Given the description of an element on the screen output the (x, y) to click on. 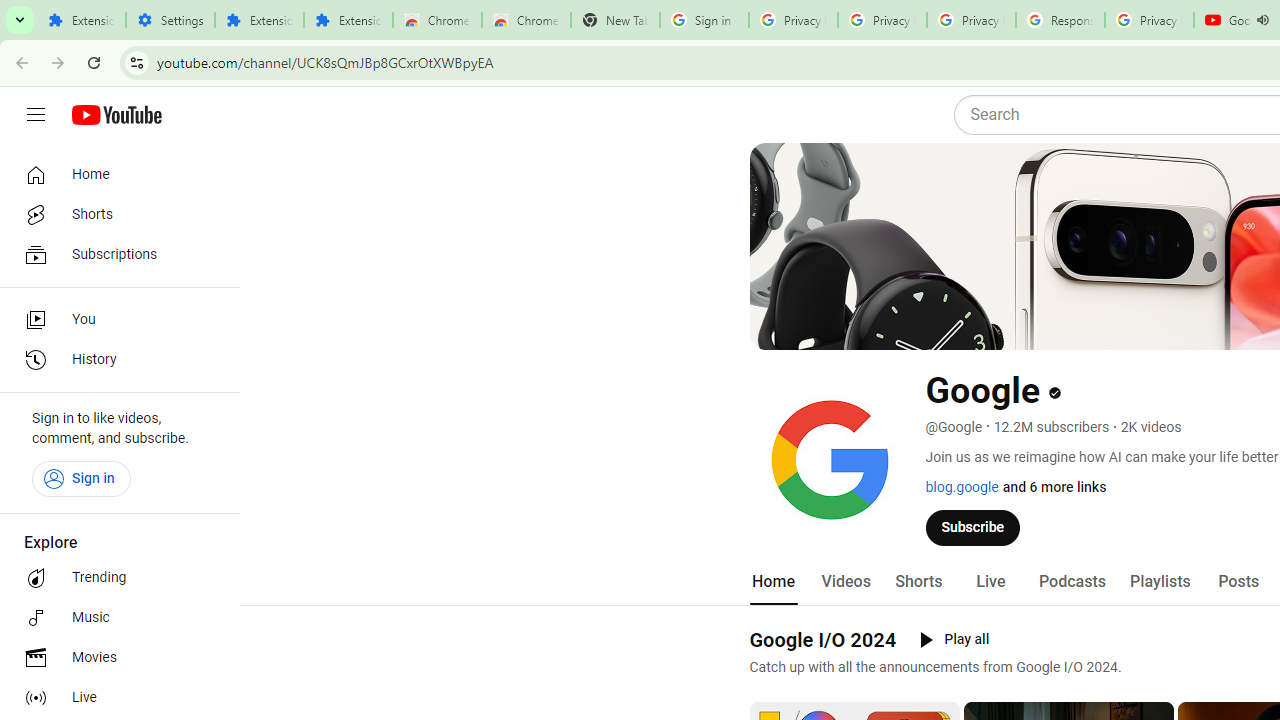
Music (113, 617)
Play all (954, 640)
YouTube Home (116, 115)
and 6 more links (1054, 487)
Extensions (347, 20)
Shorts (113, 214)
Extensions (259, 20)
Google I/O 2024 (822, 639)
blog.google (961, 487)
